Given the description of an element on the screen output the (x, y) to click on. 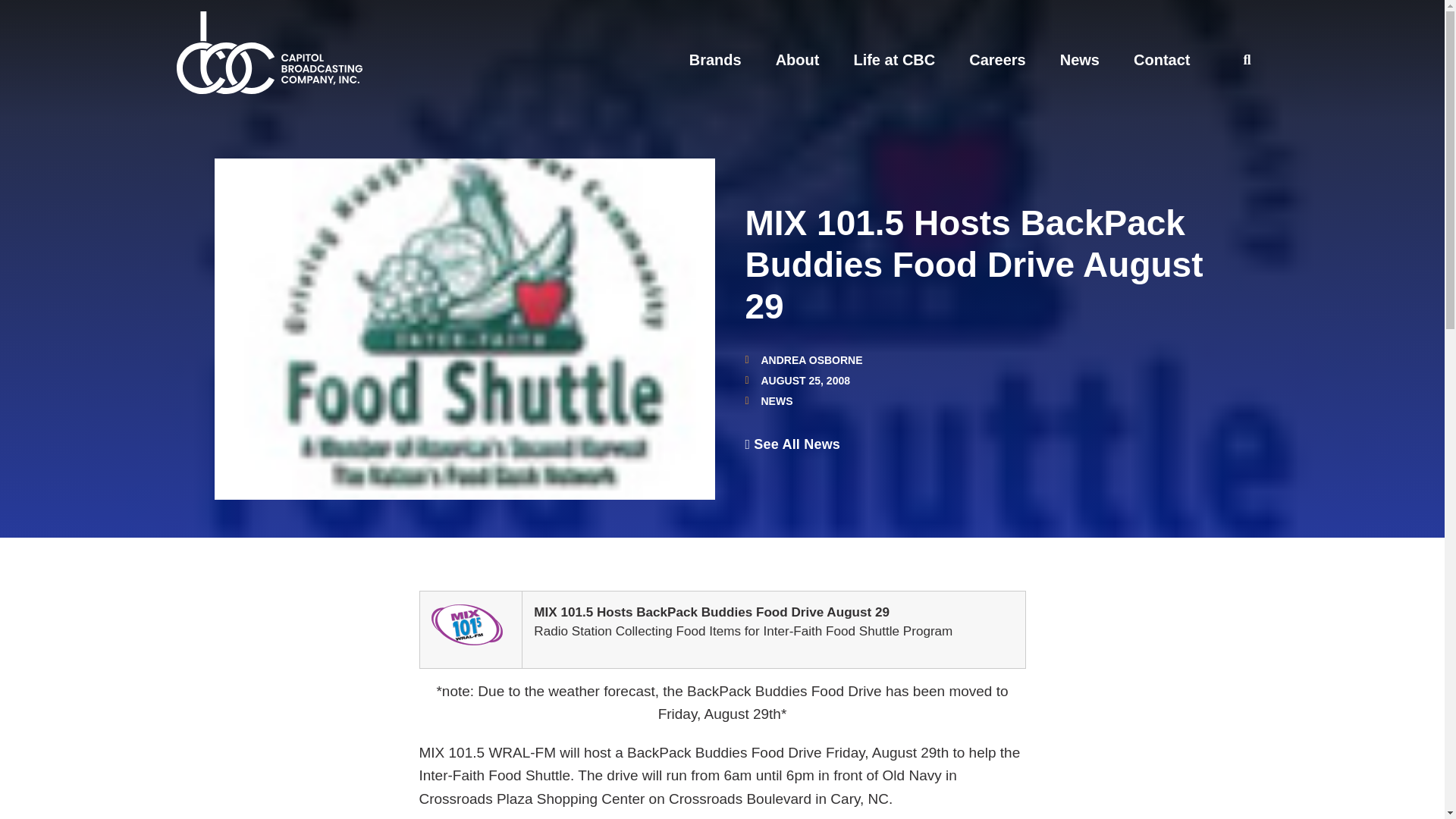
Life at CBC (893, 59)
Brands (714, 59)
ANDREA OSBORNE (802, 359)
NEWS (777, 400)
Careers (997, 59)
News (1079, 59)
Contact (1161, 59)
See All News (792, 444)
AUGUST 25, 2008 (797, 380)
About (797, 59)
